Given the description of an element on the screen output the (x, y) to click on. 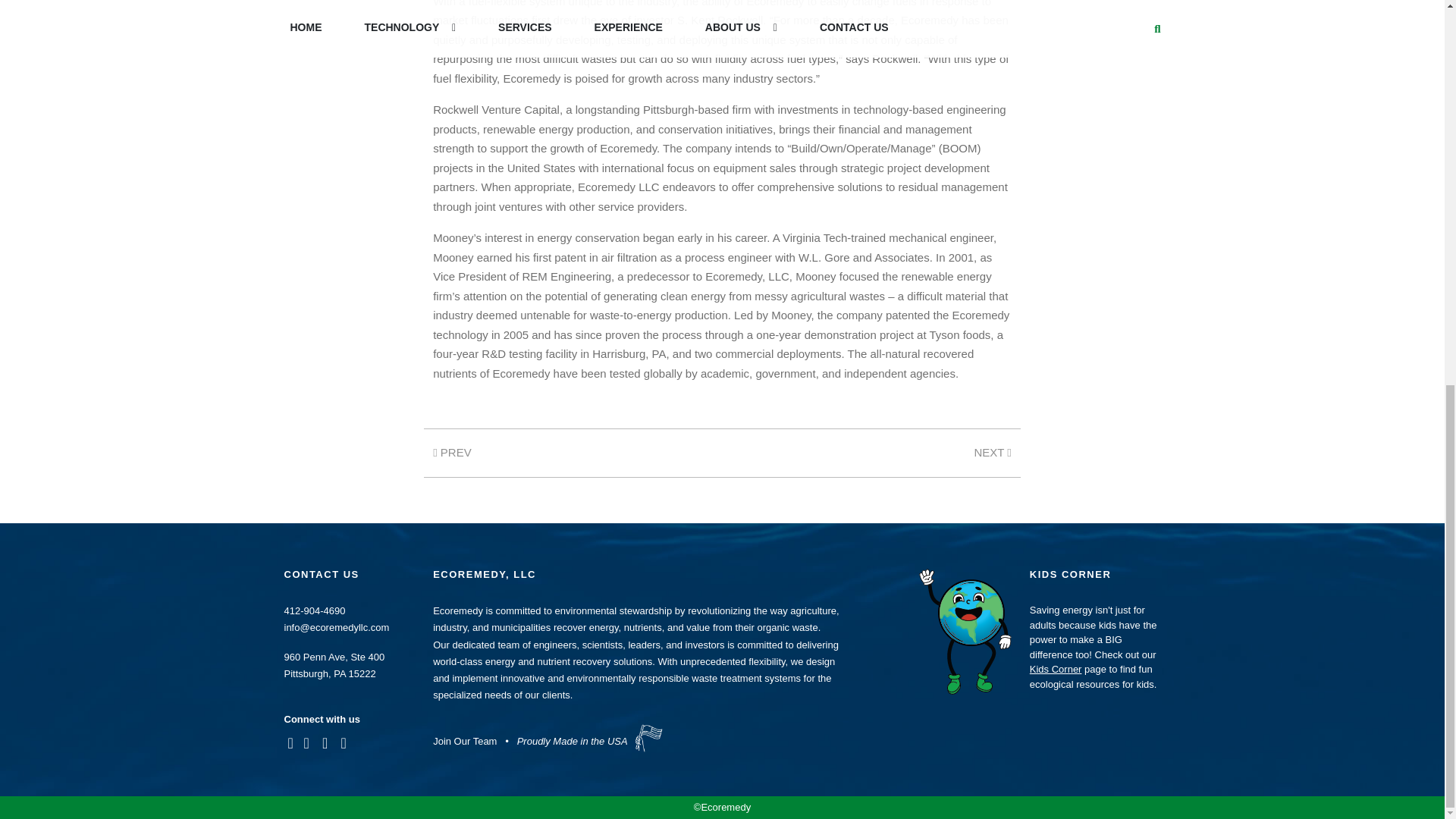
Kids Corner (1055, 668)
Join Our Team (464, 740)
NEXT (992, 451)
PREV (451, 451)
